Given the description of an element on the screen output the (x, y) to click on. 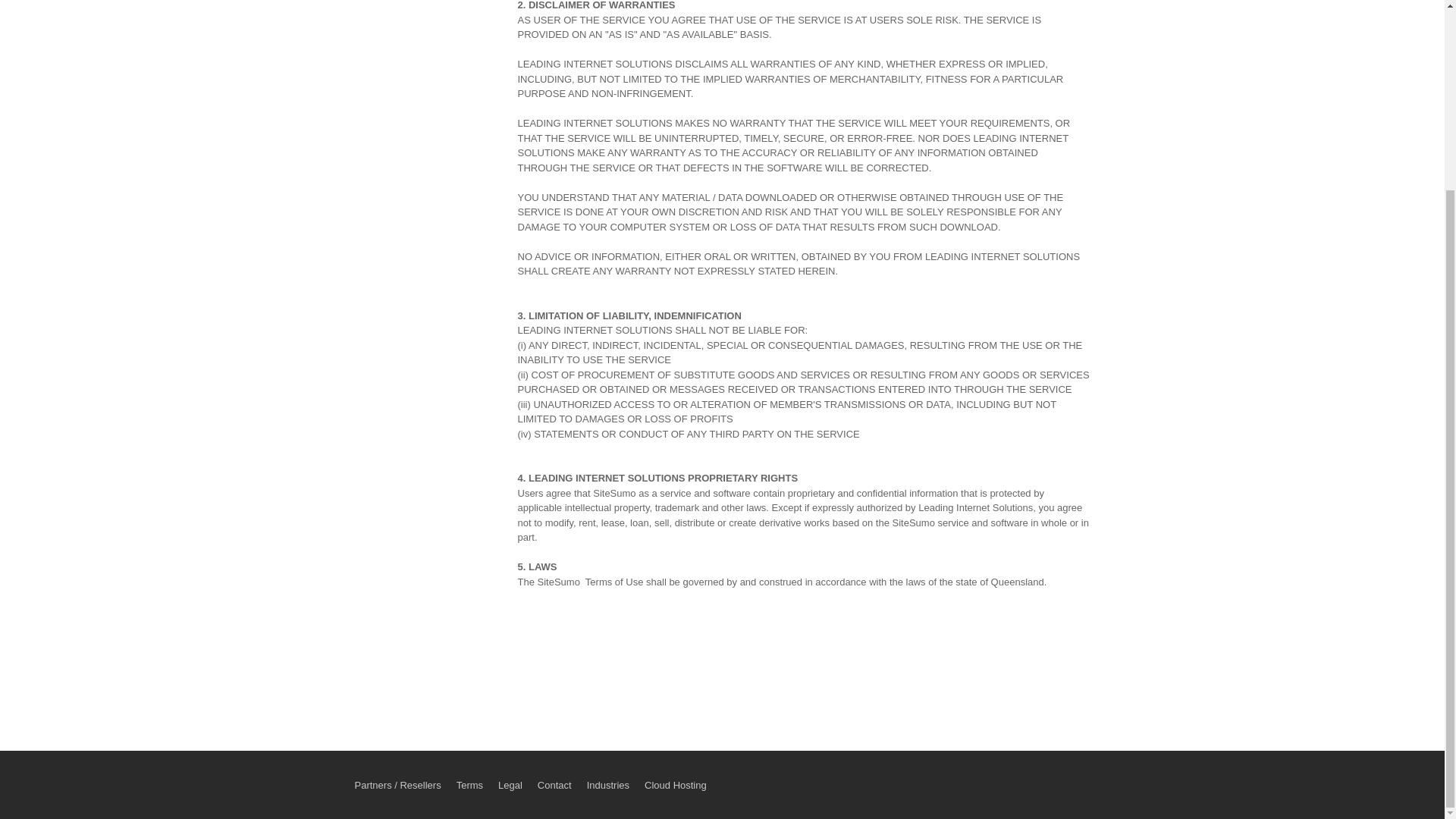
Cloud Hosting (675, 785)
Cloud Hosting (675, 785)
Terms (470, 785)
Industries (607, 785)
Terms (470, 785)
Legal (509, 785)
Industries (607, 785)
Contact (554, 785)
Legal (509, 785)
Contact (554, 785)
